Given the description of an element on the screen output the (x, y) to click on. 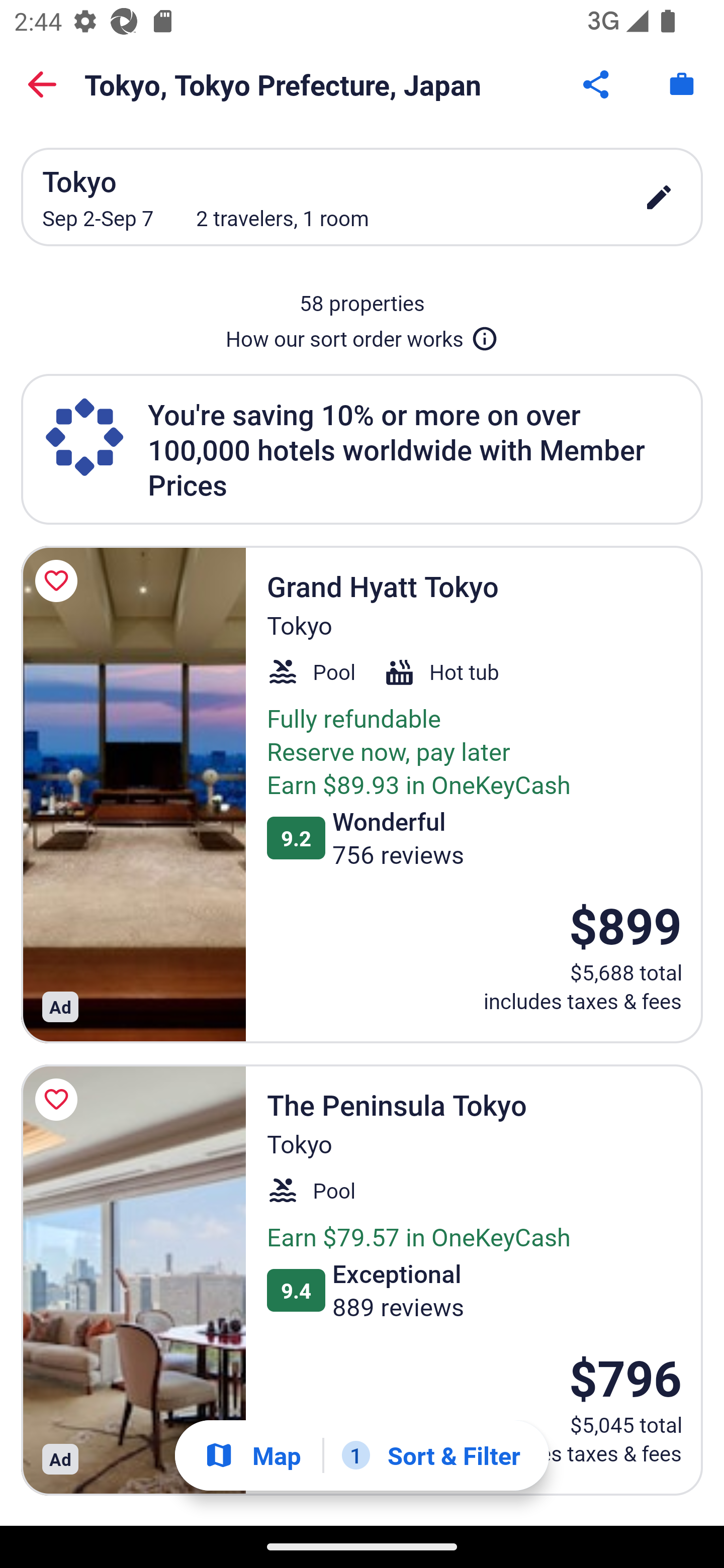
Back (42, 84)
Share Button (597, 84)
Trips. Button (681, 84)
Tokyo Sep 2-Sep 7 2 travelers, 1 room edit (361, 196)
How our sort order works (361, 334)
Save Grand Hyatt Tokyo to a trip (59, 580)
Grand Hyatt Tokyo (133, 793)
Save The Peninsula Tokyo to a trip (59, 1098)
The Peninsula Tokyo (133, 1279)
1 Sort & Filter 1 Filter applied. Filters Button (430, 1455)
Show map Map Show map Button (252, 1455)
